Given the description of an element on the screen output the (x, y) to click on. 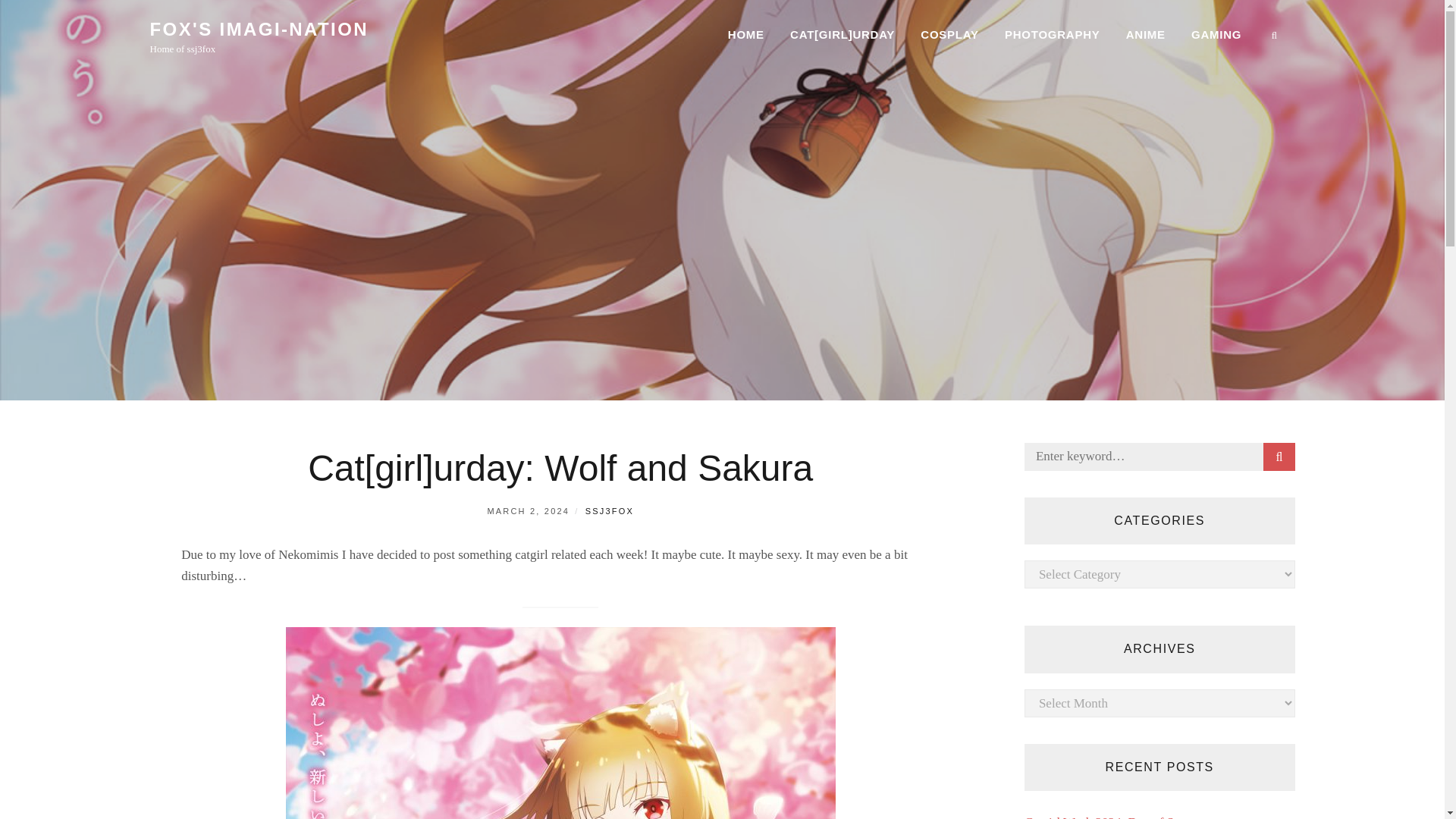
PHOTOGRAPHY (1052, 34)
GAMING (1215, 34)
Catgirl Week 2024: Day of Sexy (1108, 816)
SEARCH (1279, 456)
FOX'S IMAGI-NATION (258, 28)
ANIME (1145, 34)
HOME (746, 34)
COSPLAY (949, 34)
SSJ3FOX (609, 510)
